Given the description of an element on the screen output the (x, y) to click on. 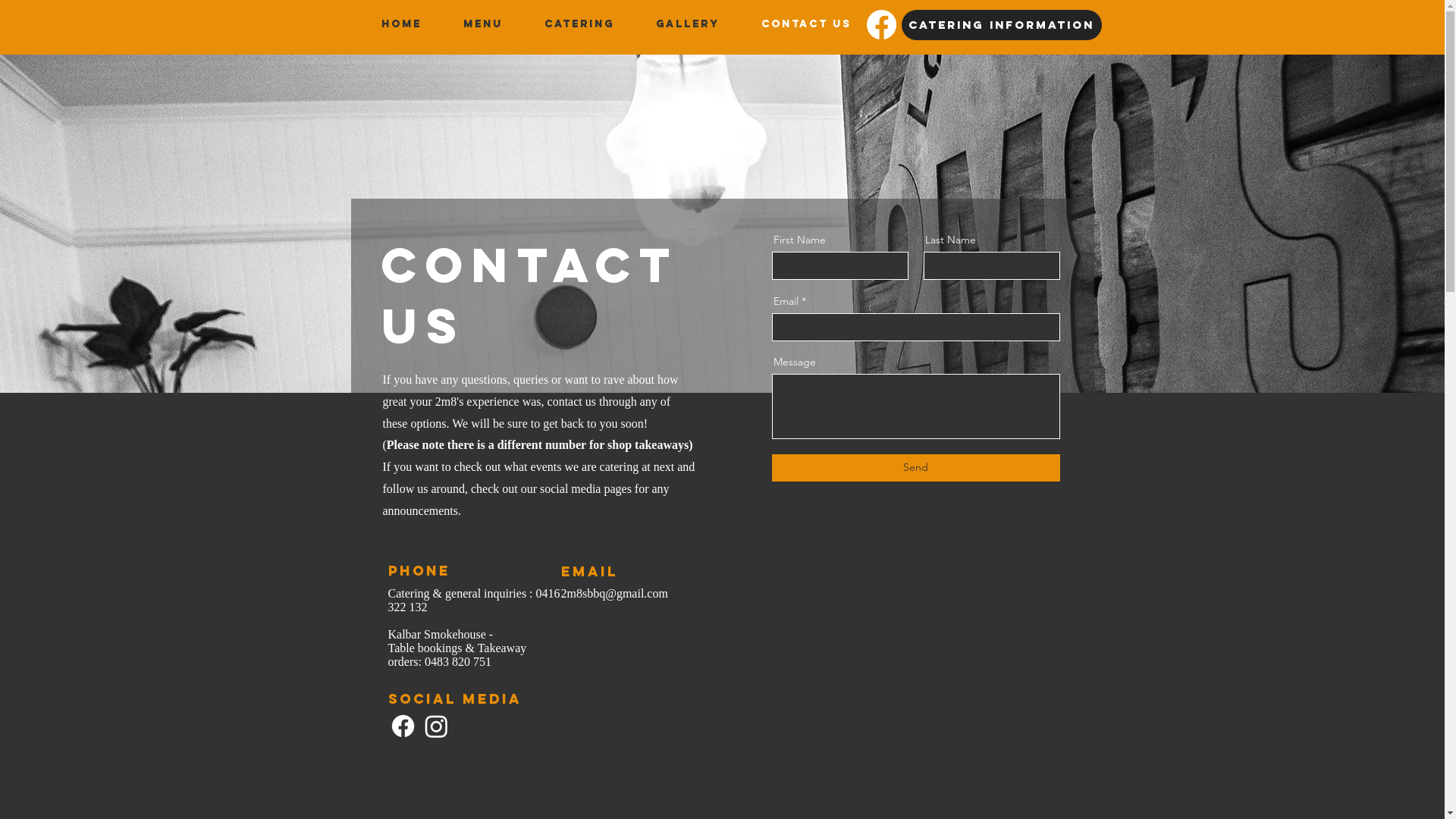
CATERING Element type: text (578, 23)
MENU Element type: text (483, 23)
catering information Element type: text (1000, 24)
2m8sbbq@gmail.com Element type: text (614, 592)
GALLERY Element type: text (687, 23)
HOME Element type: text (400, 23)
Send Element type: text (915, 467)
CONTACT US Element type: text (806, 23)
